Given the description of an element on the screen output the (x, y) to click on. 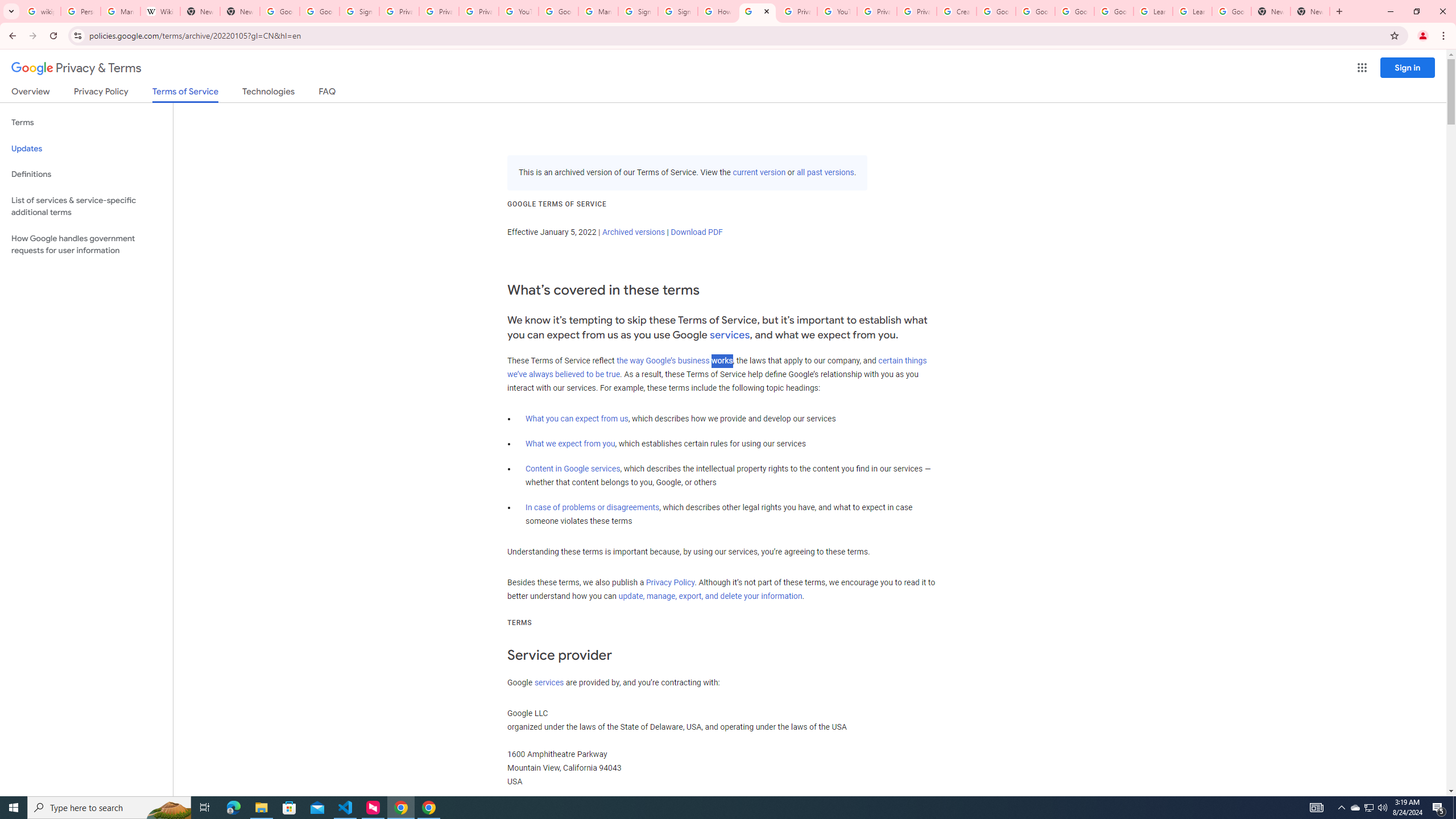
Archived versions (633, 231)
Sign in - Google Accounts (359, 11)
New Tab (239, 11)
Create your Google Account (956, 11)
New Tab (1270, 11)
Sign in - Google Accounts (637, 11)
update, manage, export, and delete your information (710, 596)
Manage your Location History - Google Search Help (120, 11)
